Given the description of an element on the screen output the (x, y) to click on. 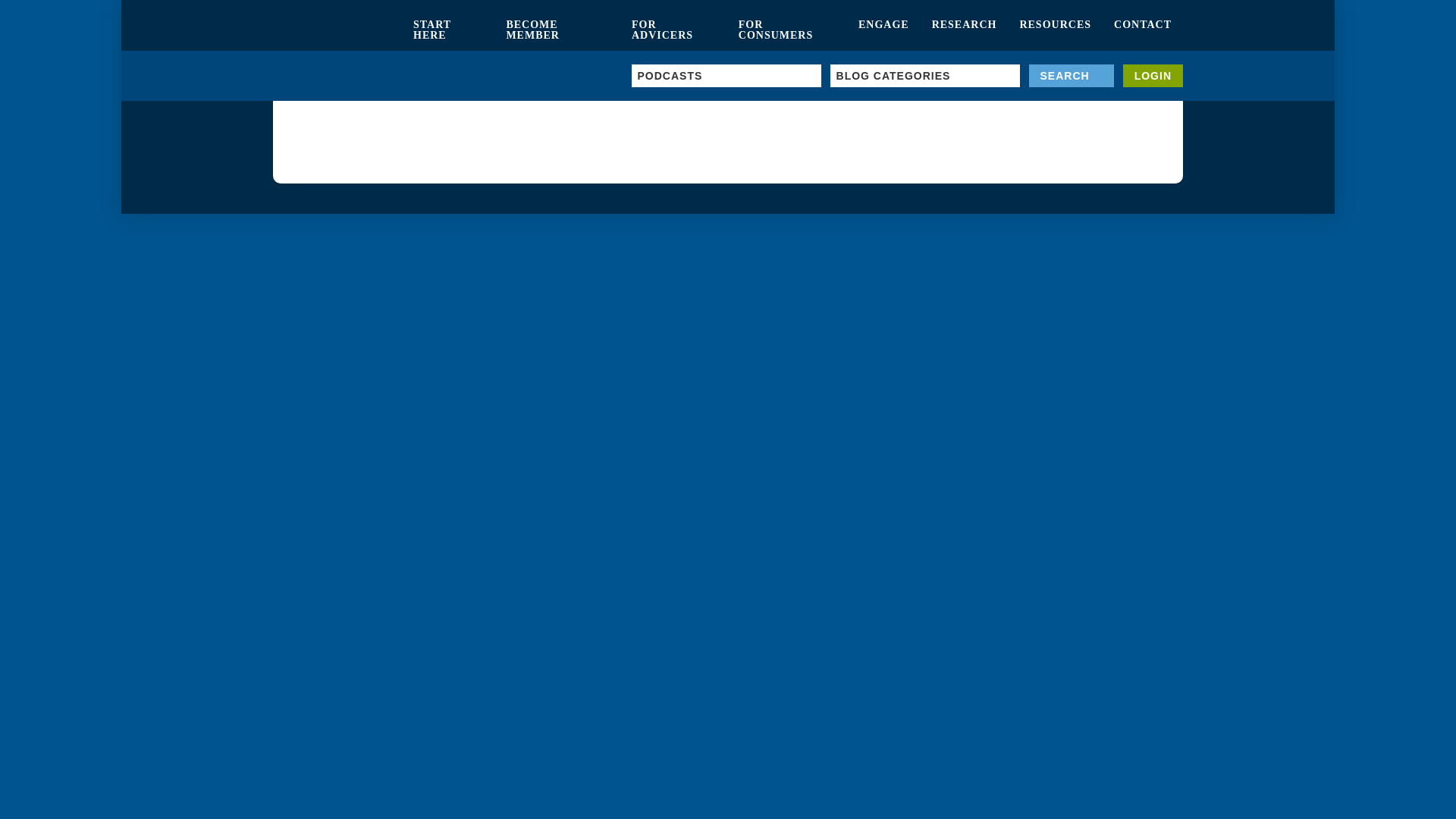
START HERE (448, 30)
CONTACT (1142, 30)
Kitces.com (337, 29)
BECOME MEMBER (557, 30)
RESEARCH (964, 30)
RESOURCES (1054, 30)
FOR ADVICERS (673, 30)
ENGAGE (883, 30)
FOR CONSUMERS (786, 30)
